Given the description of an element on the screen output the (x, y) to click on. 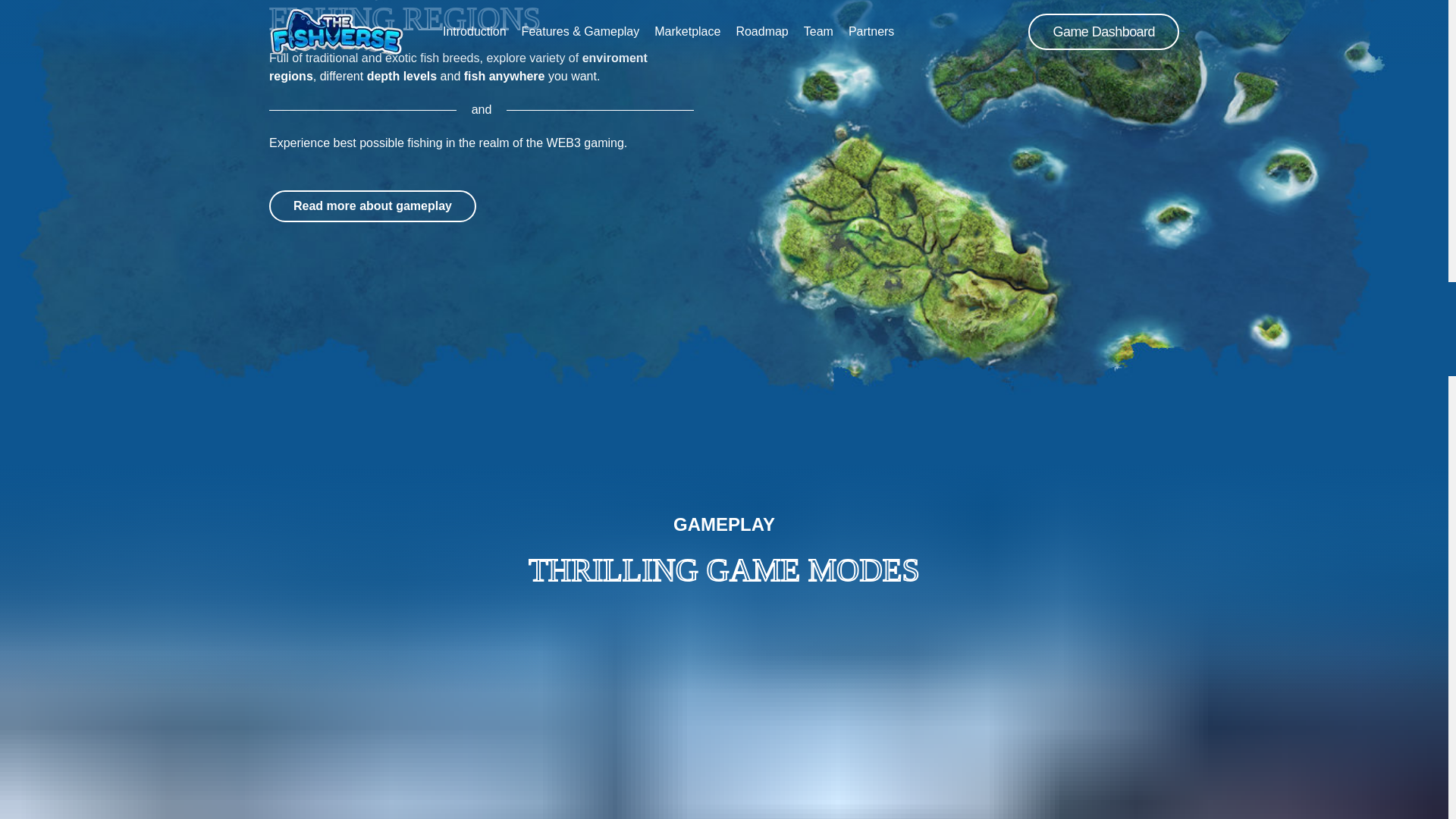
Read more about gameplay (372, 205)
